Given the description of an element on the screen output the (x, y) to click on. 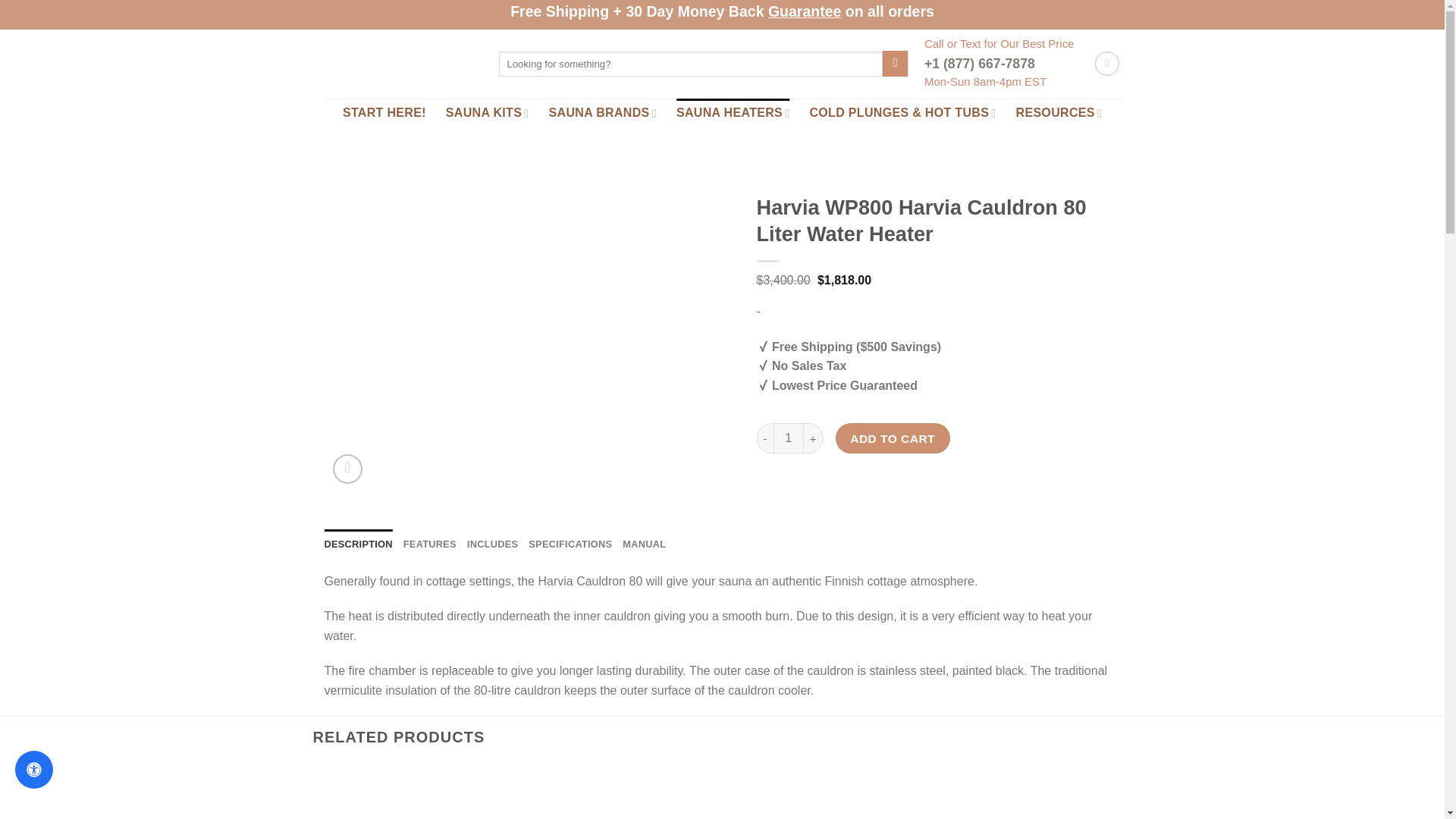
Cart (1106, 63)
1 (788, 438)
Search (894, 63)
Guarantee (804, 11)
START HERE! (384, 112)
SAUNA KITS (487, 112)
Zoom (347, 469)
SAUNA BRANDS (602, 112)
SAUNA HEATERS (733, 112)
